Given the description of an element on the screen output the (x, y) to click on. 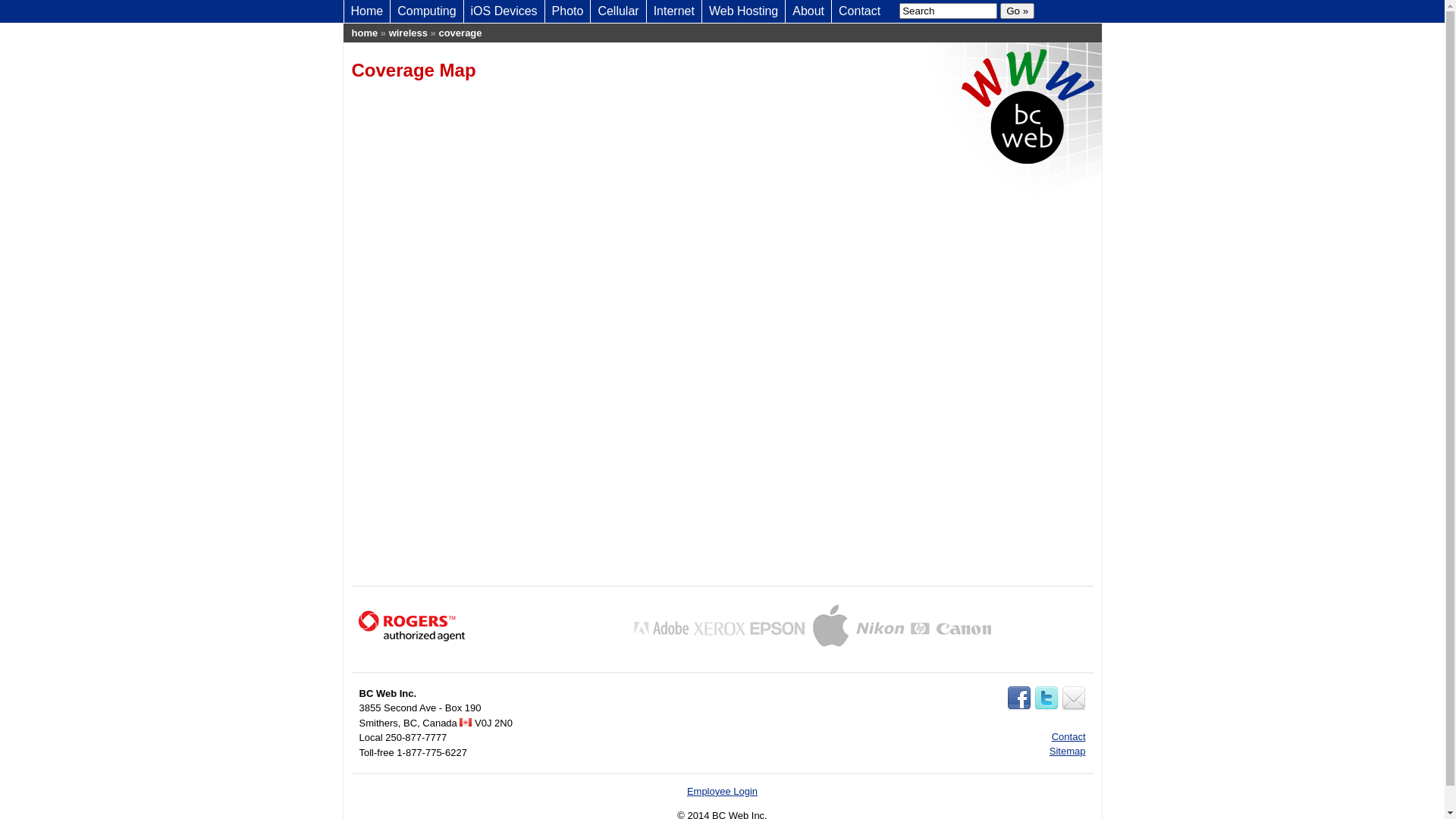
Computing Element type: text (426, 11)
About Element type: text (808, 11)
Web Hosting Element type: text (743, 11)
iOS Devices Element type: text (504, 11)
Home Element type: text (367, 11)
Internet Element type: text (673, 11)
Cellular Element type: text (617, 11)
home Element type: text (364, 32)
Contact Element type: text (1068, 736)
Photo Element type: text (567, 11)
Employee Login Element type: text (722, 791)
Sitemap Element type: text (1067, 750)
Contact Element type: text (859, 11)
